Given the description of an element on the screen output the (x, y) to click on. 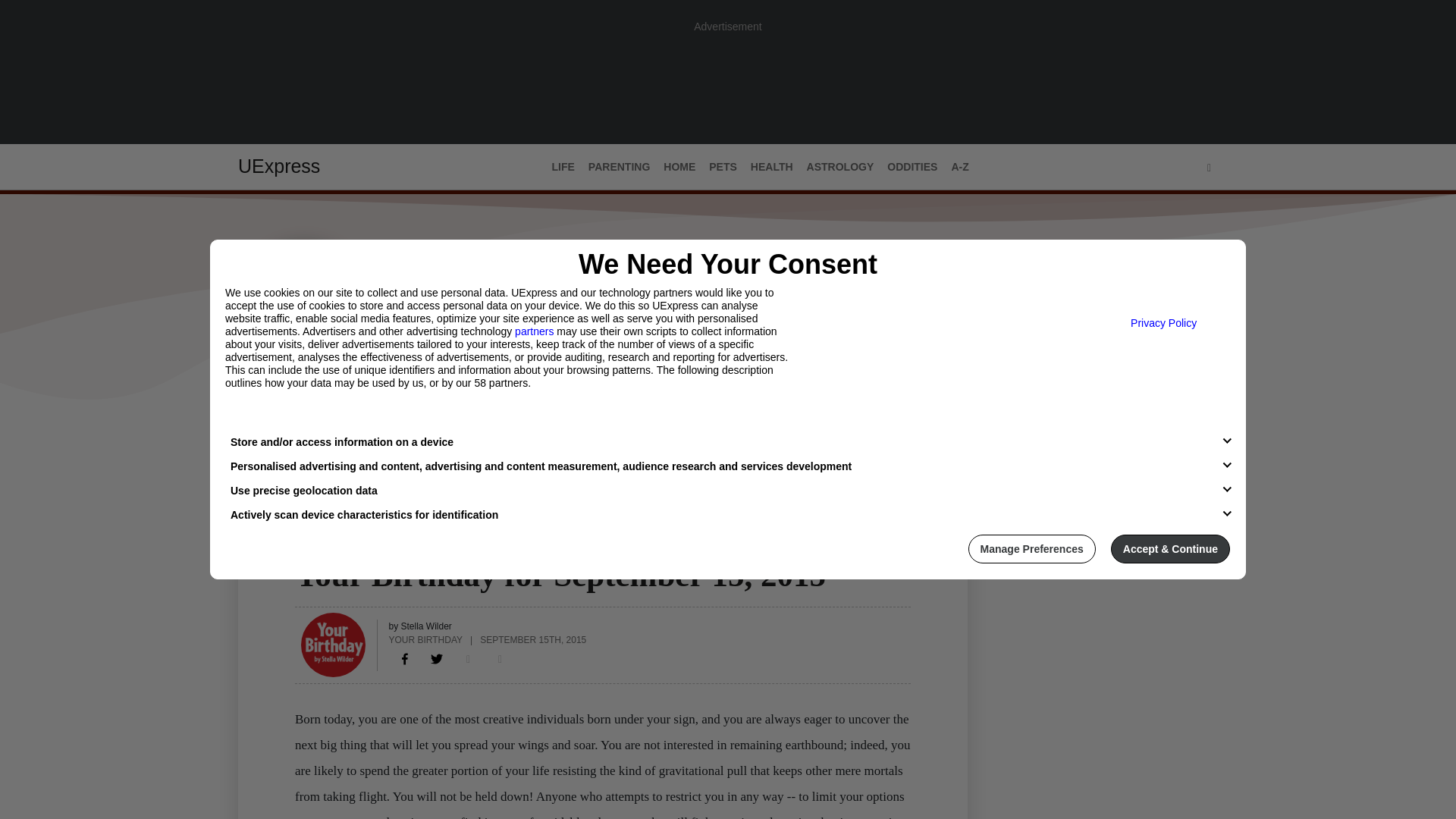
LIFE (562, 166)
Latest (256, 431)
ODDITIES (911, 166)
HOME (678, 166)
UExpress (279, 166)
About (309, 431)
A-Z (959, 166)
Your Birthday for September 15, 2015 (404, 658)
PETS (722, 166)
PARENTING (618, 166)
HEALTH (771, 166)
YOUR BIRTHDAY (425, 639)
ASTROLOGY (839, 166)
ASTROLOGY (328, 545)
Archives (371, 431)
